Given the description of an element on the screen output the (x, y) to click on. 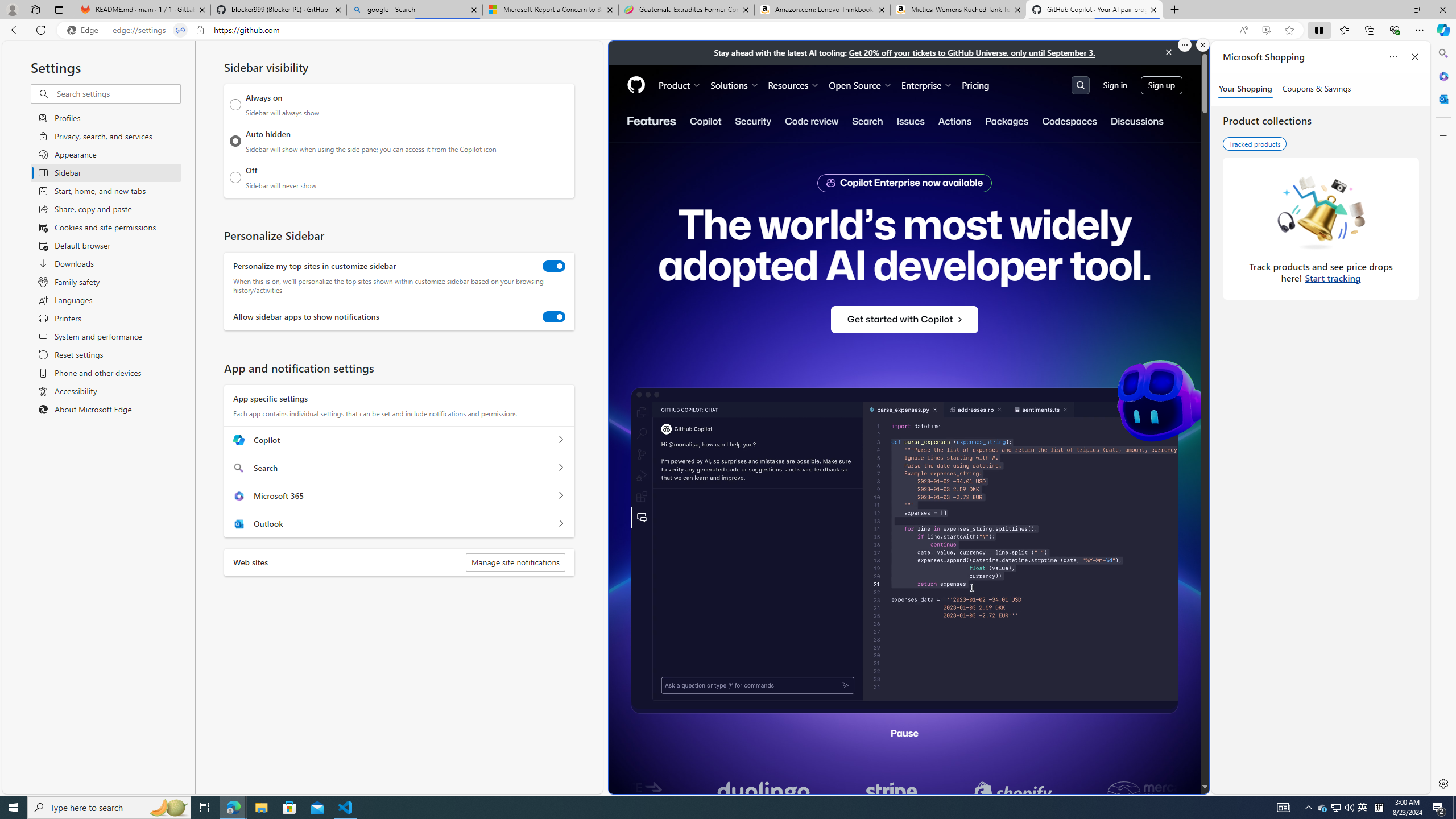
Get started with Copilot (903, 319)
Sign up (1161, 84)
Product (679, 84)
